Given the description of an element on the screen output the (x, y) to click on. 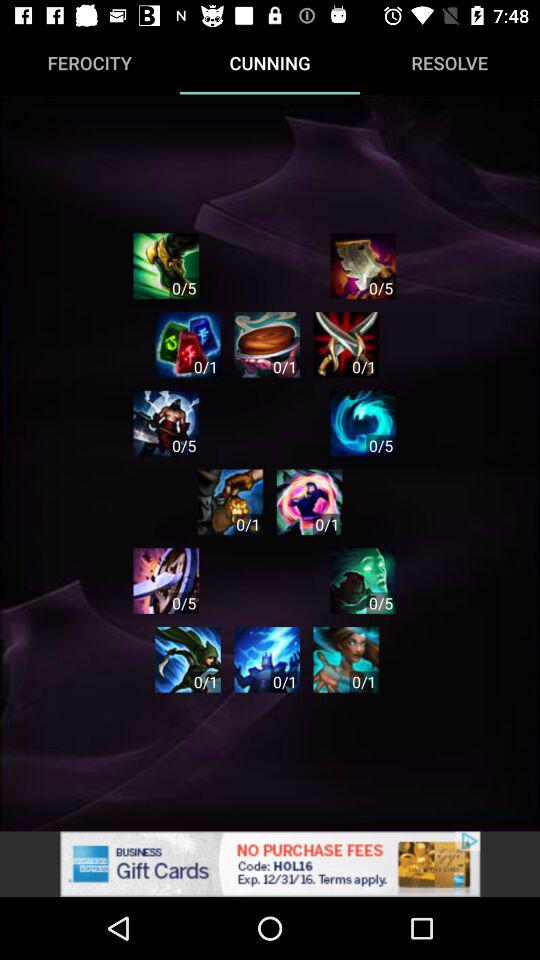
know about the advertisement (270, 864)
